Given the description of an element on the screen output the (x, y) to click on. 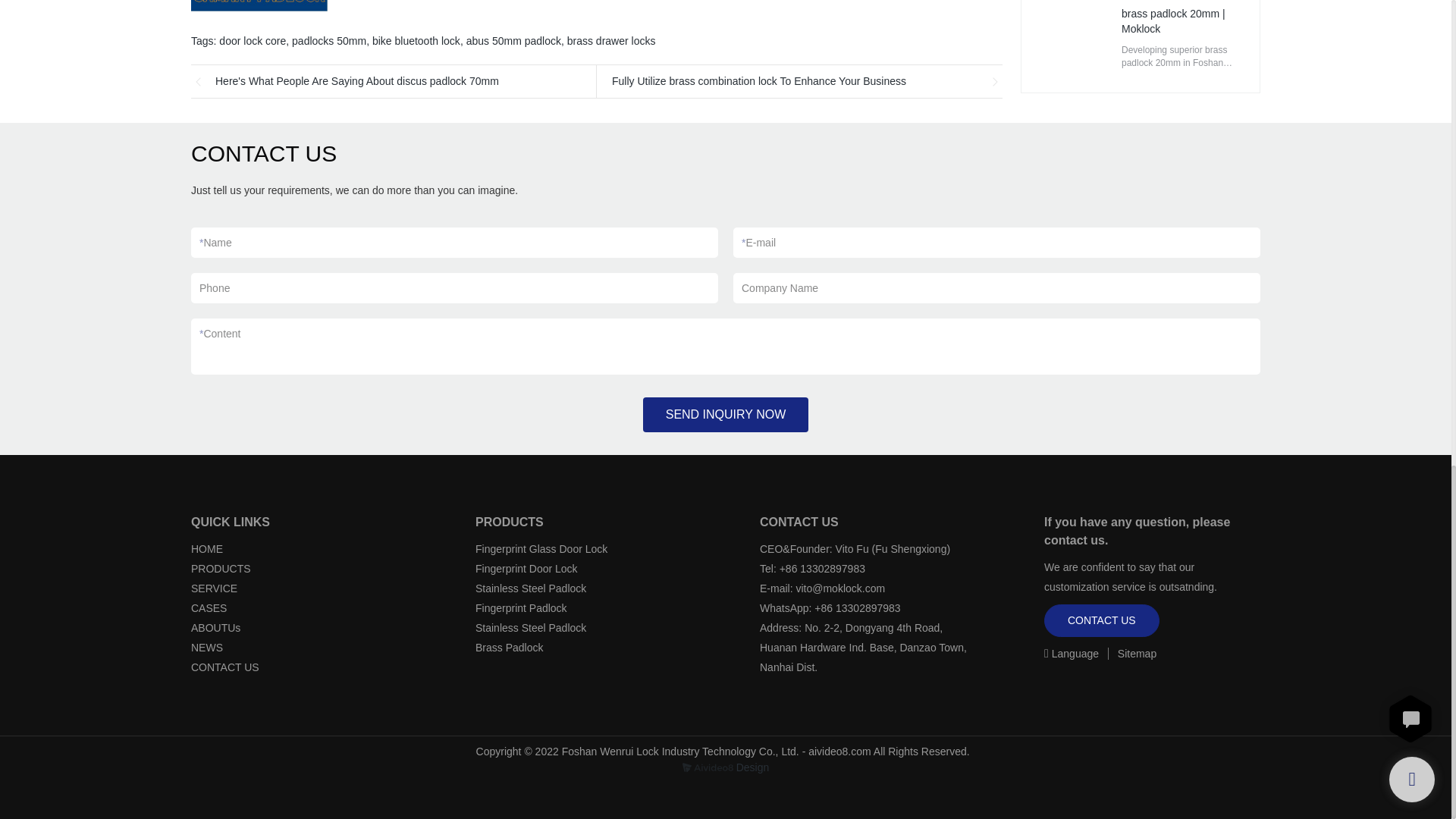
door lock core (252, 40)
bike bluetooth lock (416, 40)
padlocks 50mm (329, 40)
